Given the description of an element on the screen output the (x, y) to click on. 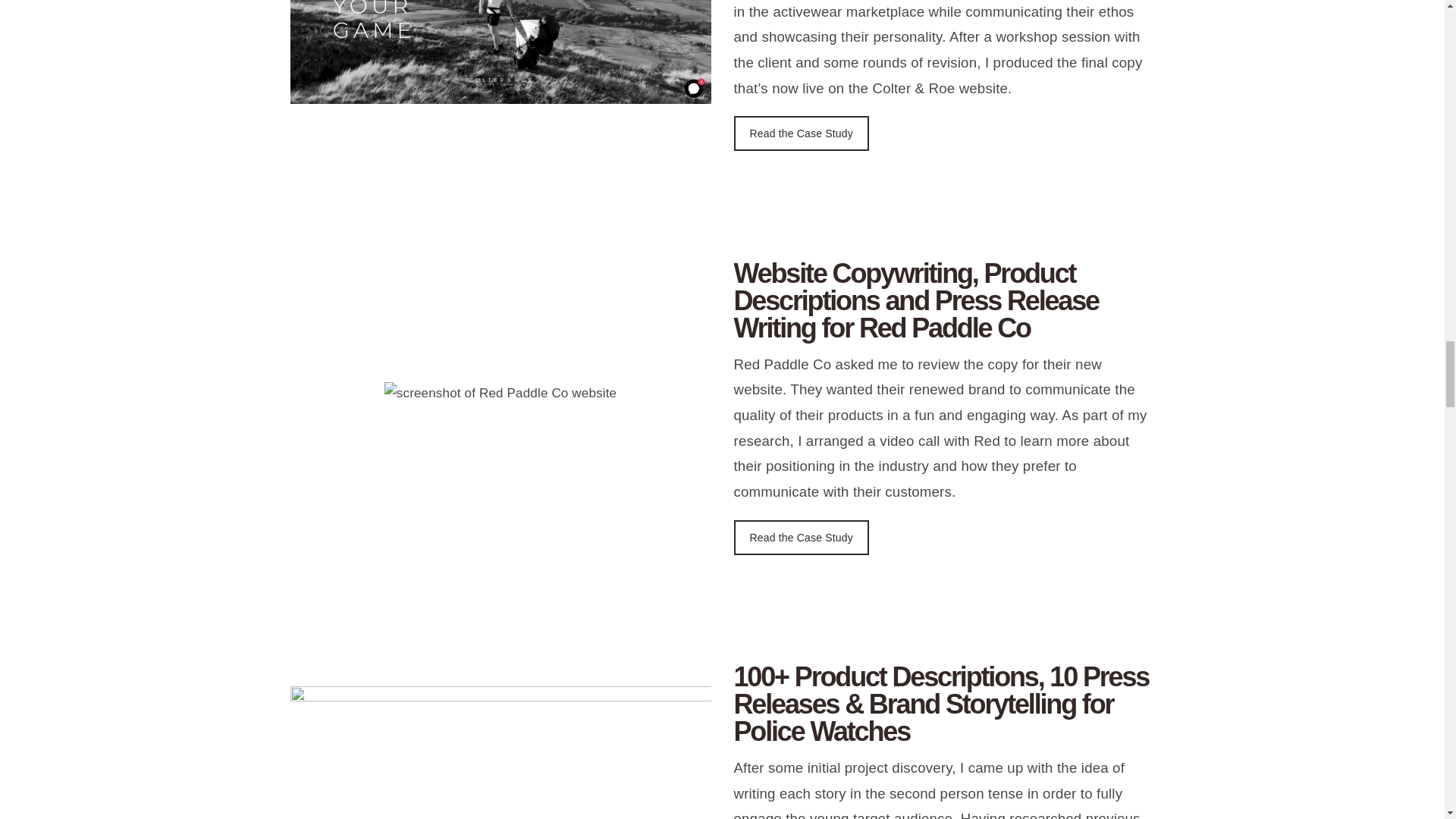
colter-and-roe (499, 52)
Case Study (801, 133)
red-paddle (499, 393)
